Given the description of an element on the screen output the (x, y) to click on. 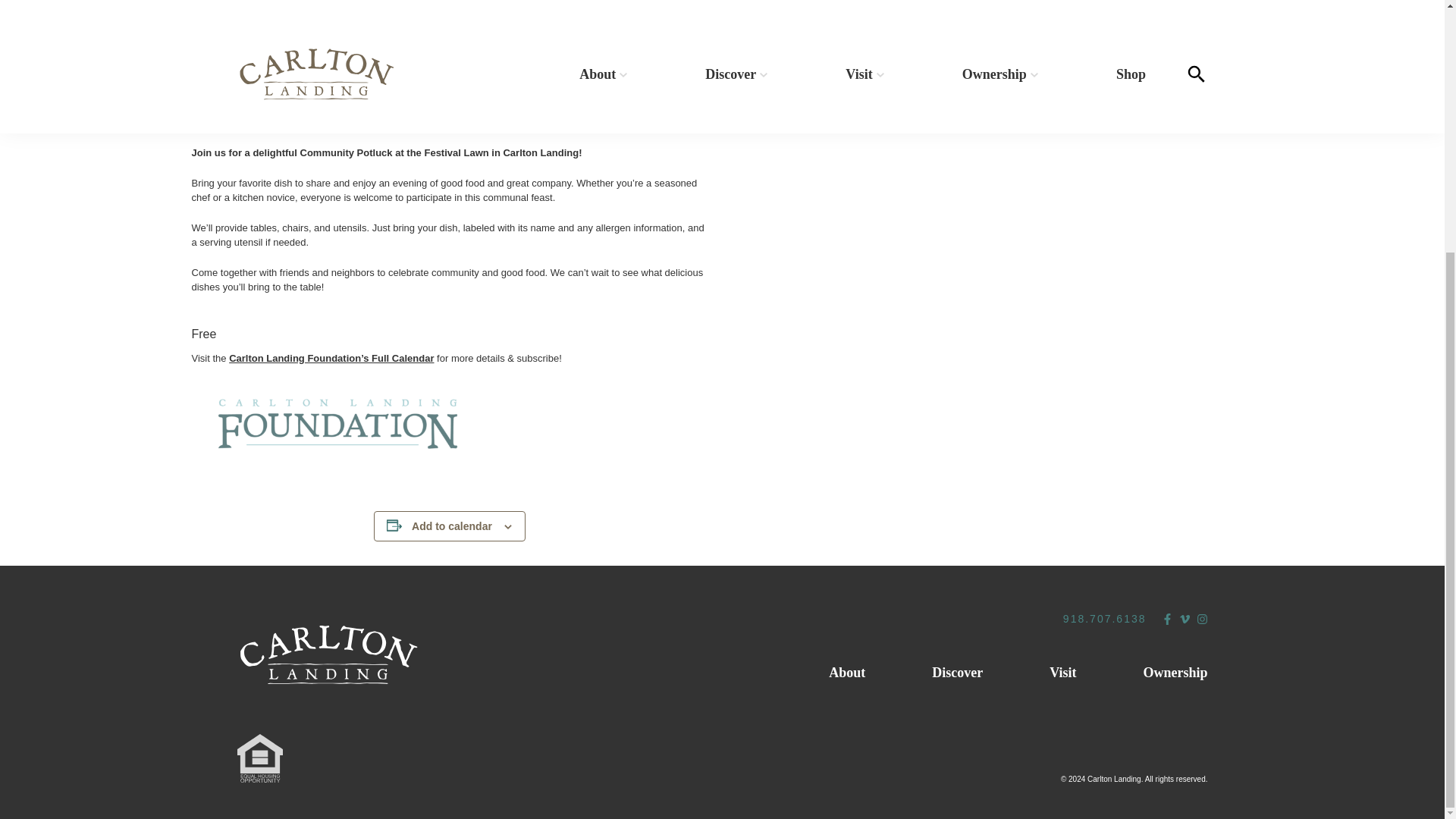
Community Potluck (261, 64)
Discover (956, 672)
Vimeo (1183, 618)
Carlton Landing (327, 654)
Add to calendar (452, 526)
Facebook (1167, 618)
Ownership (1174, 672)
About (846, 672)
